Given the description of an element on the screen output the (x, y) to click on. 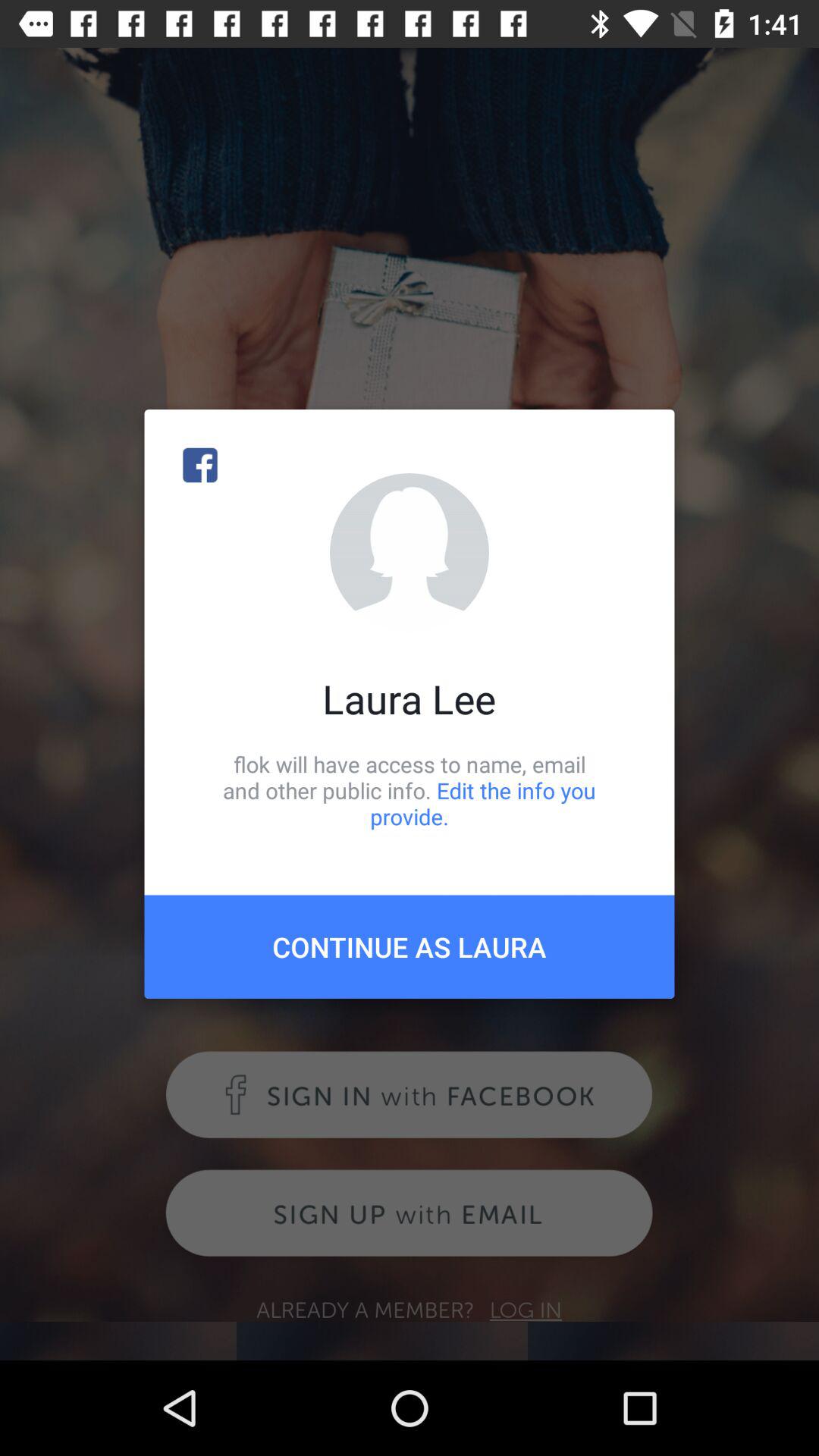
flip until the flok will have icon (409, 790)
